Given the description of an element on the screen output the (x, y) to click on. 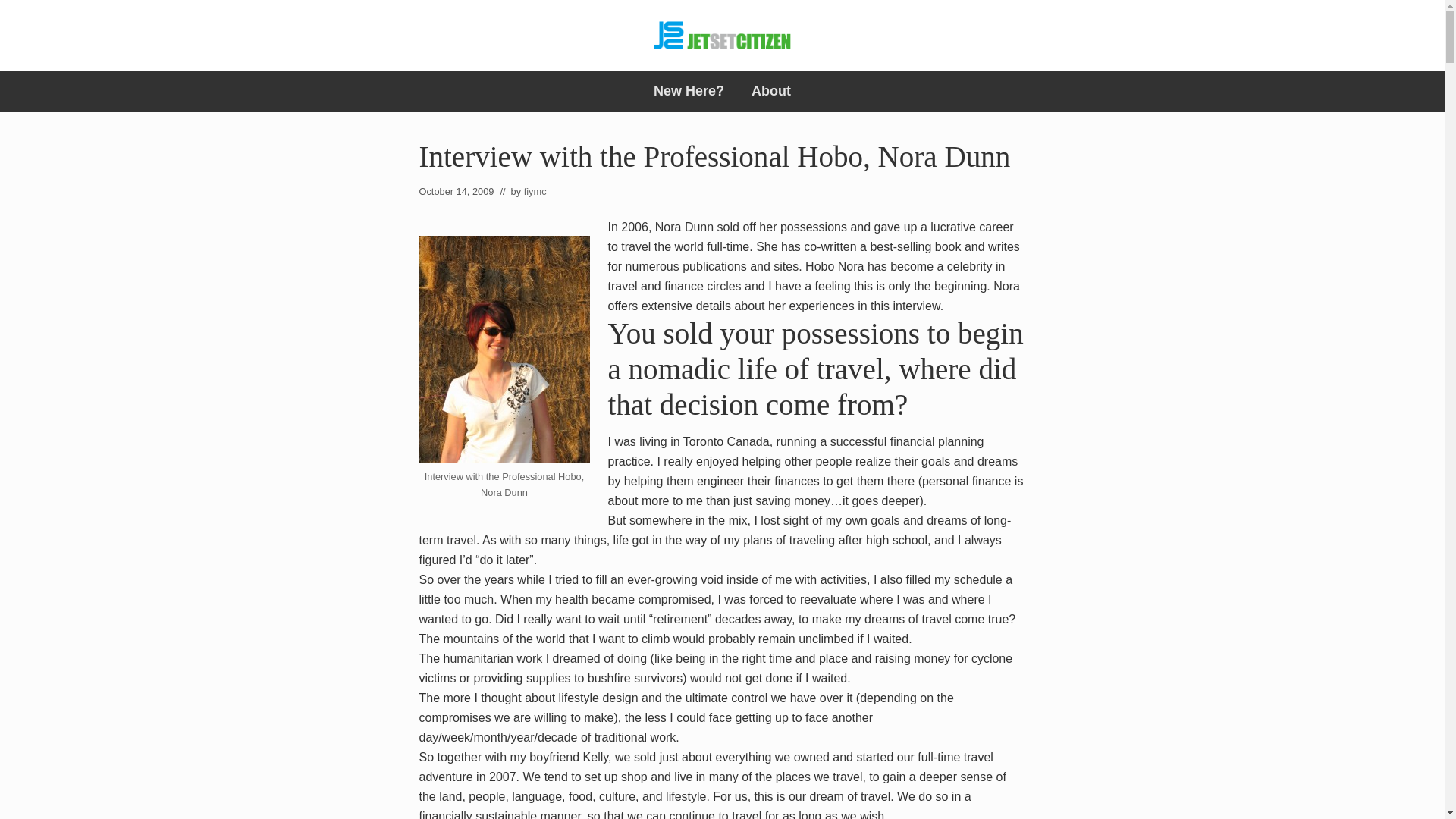
fiymc (535, 191)
About (771, 91)
New Here? (689, 91)
